Given the description of an element on the screen output the (x, y) to click on. 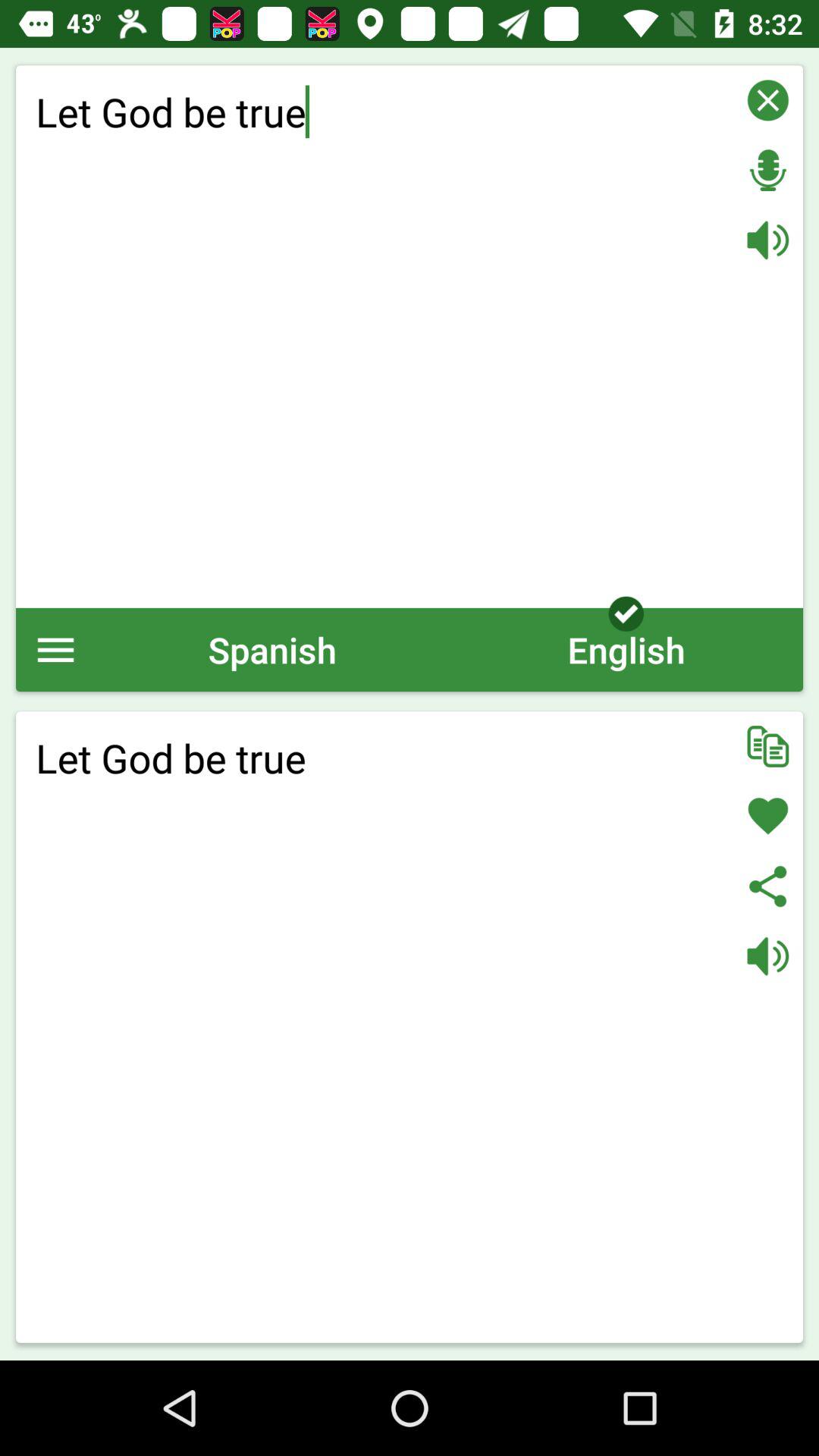
open icon next to the spanish (626, 649)
